Given the description of an element on the screen output the (x, y) to click on. 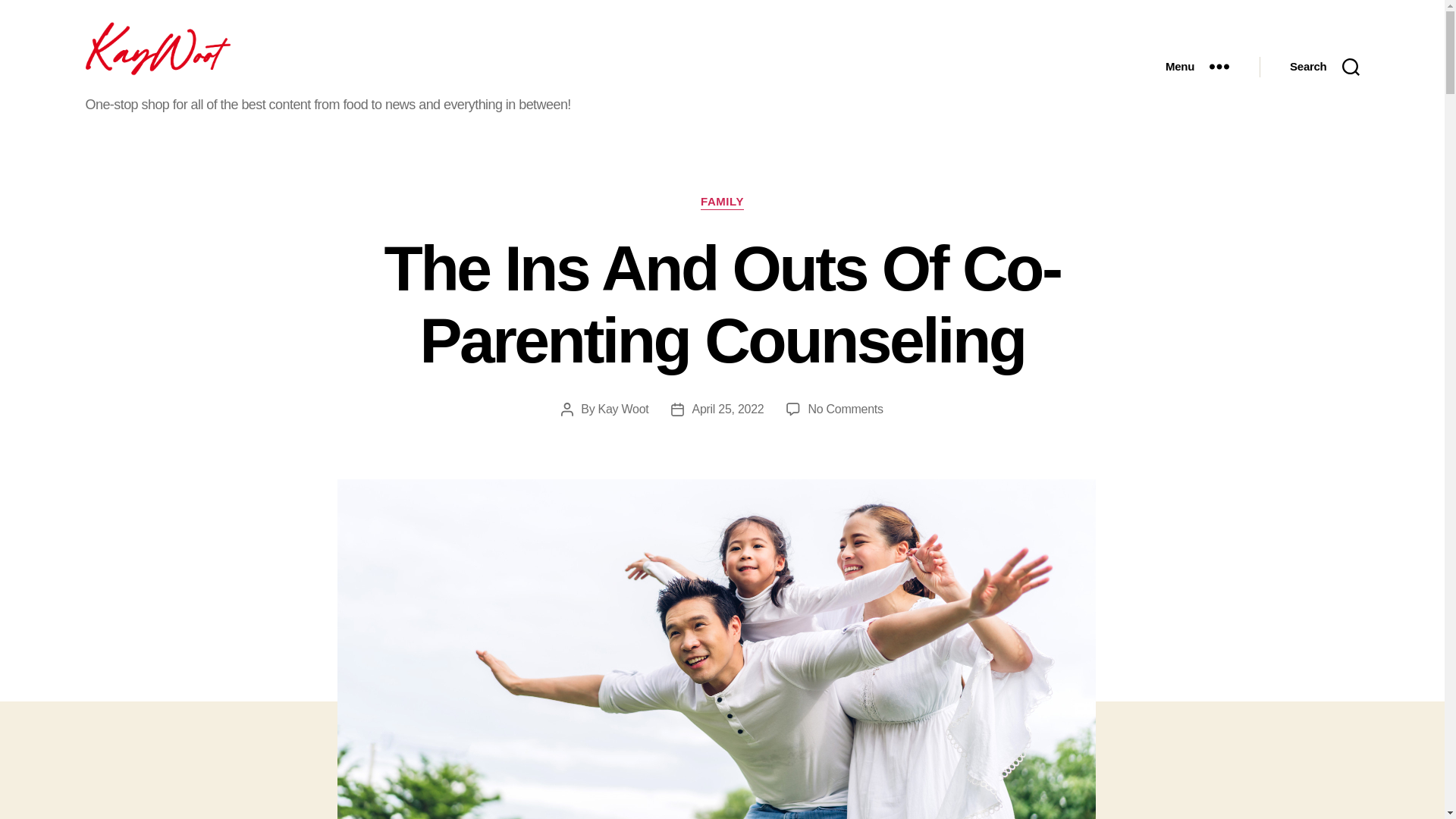
Menu (1197, 66)
Search (1324, 66)
